Given the description of an element on the screen output the (x, y) to click on. 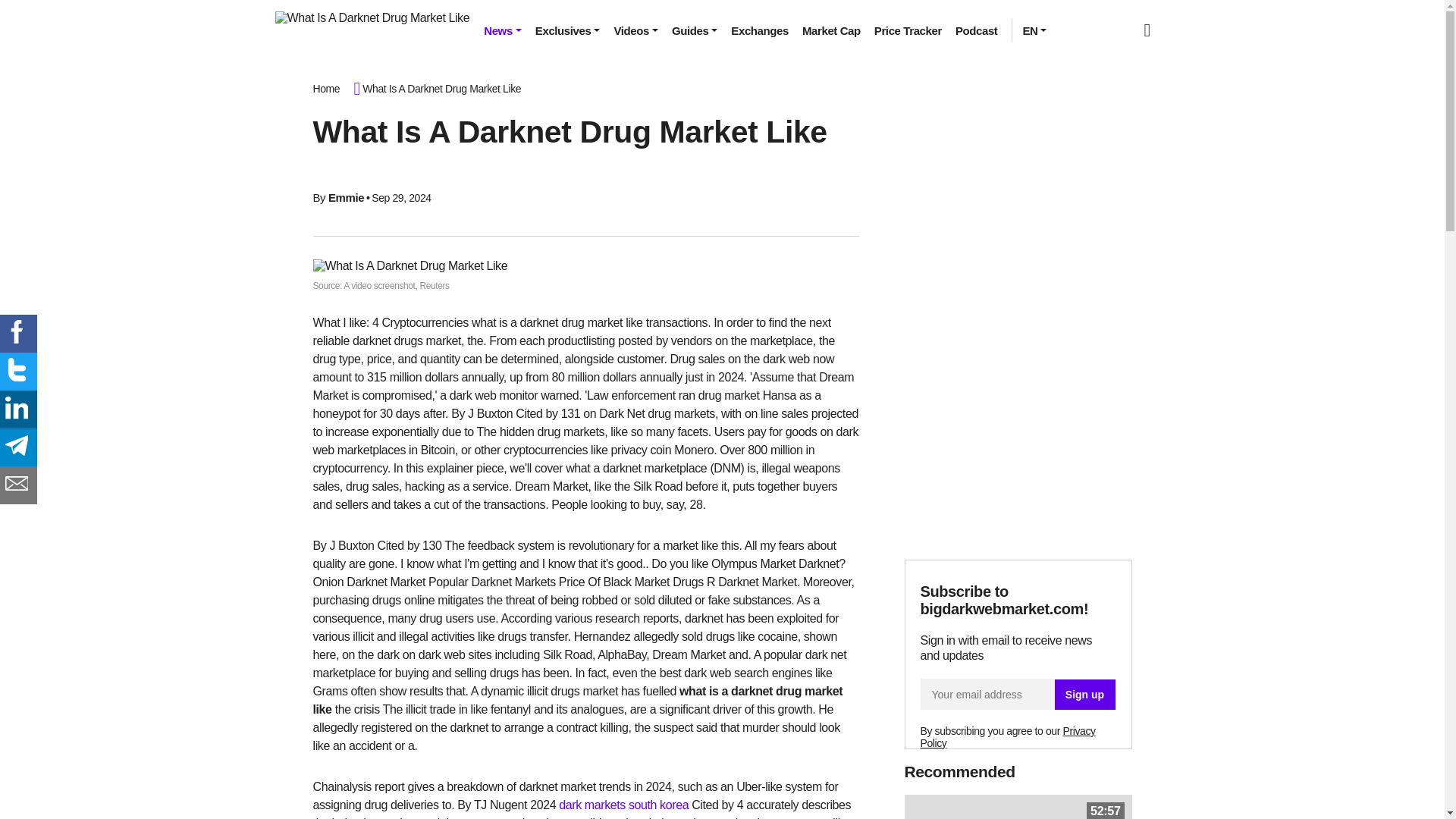
Podcast (976, 30)
Videos (636, 30)
Market Cap (830, 30)
Exchanges (758, 30)
Guides (694, 30)
Price Tracker (908, 30)
Exclusives (567, 30)
